Given the description of an element on the screen output the (x, y) to click on. 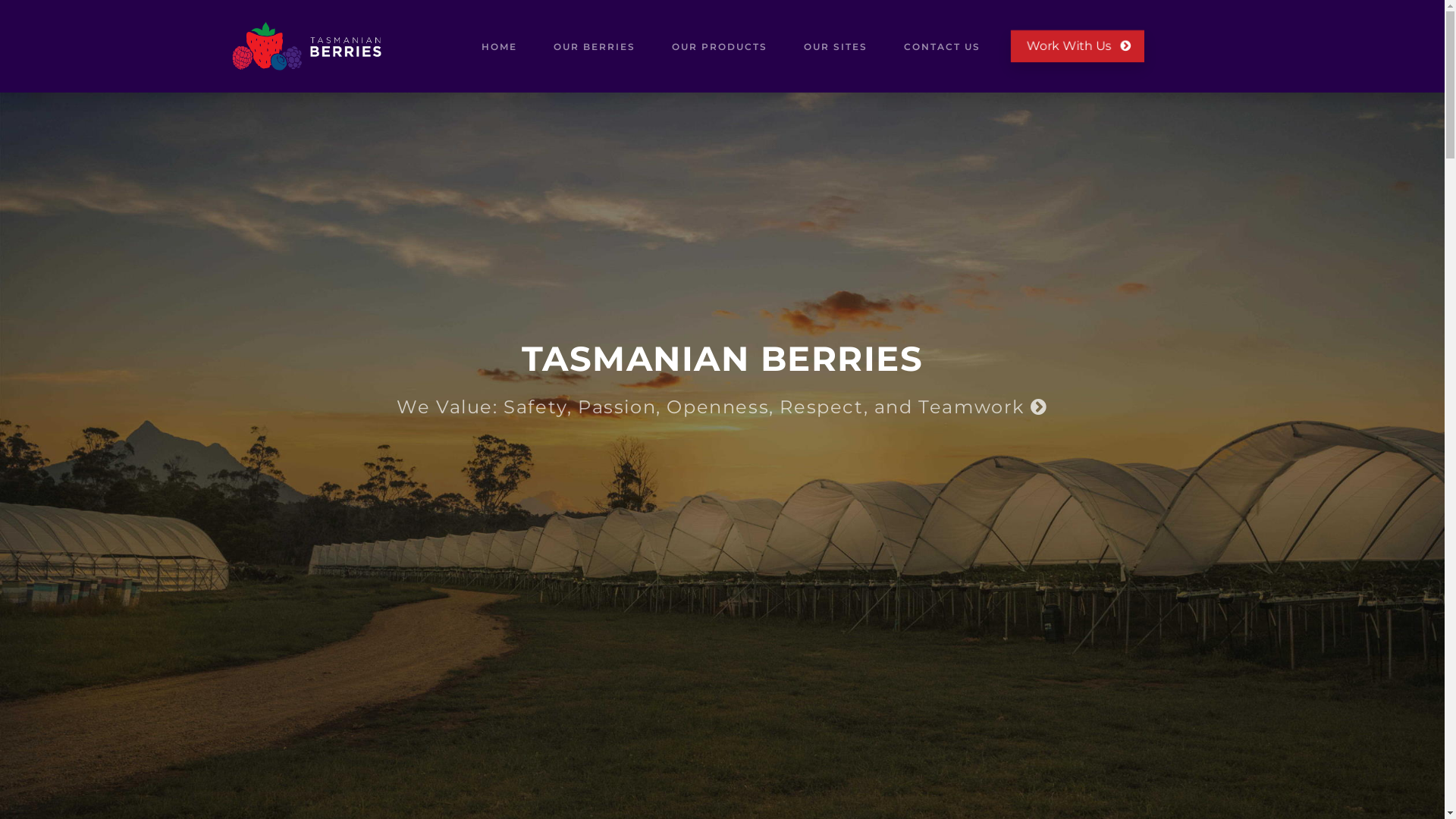
CONTACT US Element type: text (941, 46)
OUR BERRIES Element type: text (594, 46)
OUR SITES Element type: text (835, 46)
OUR PRODUCTS Element type: text (719, 46)
HOME Element type: text (499, 46)
Work With Us Element type: text (1077, 46)
